Given the description of an element on the screen output the (x, y) to click on. 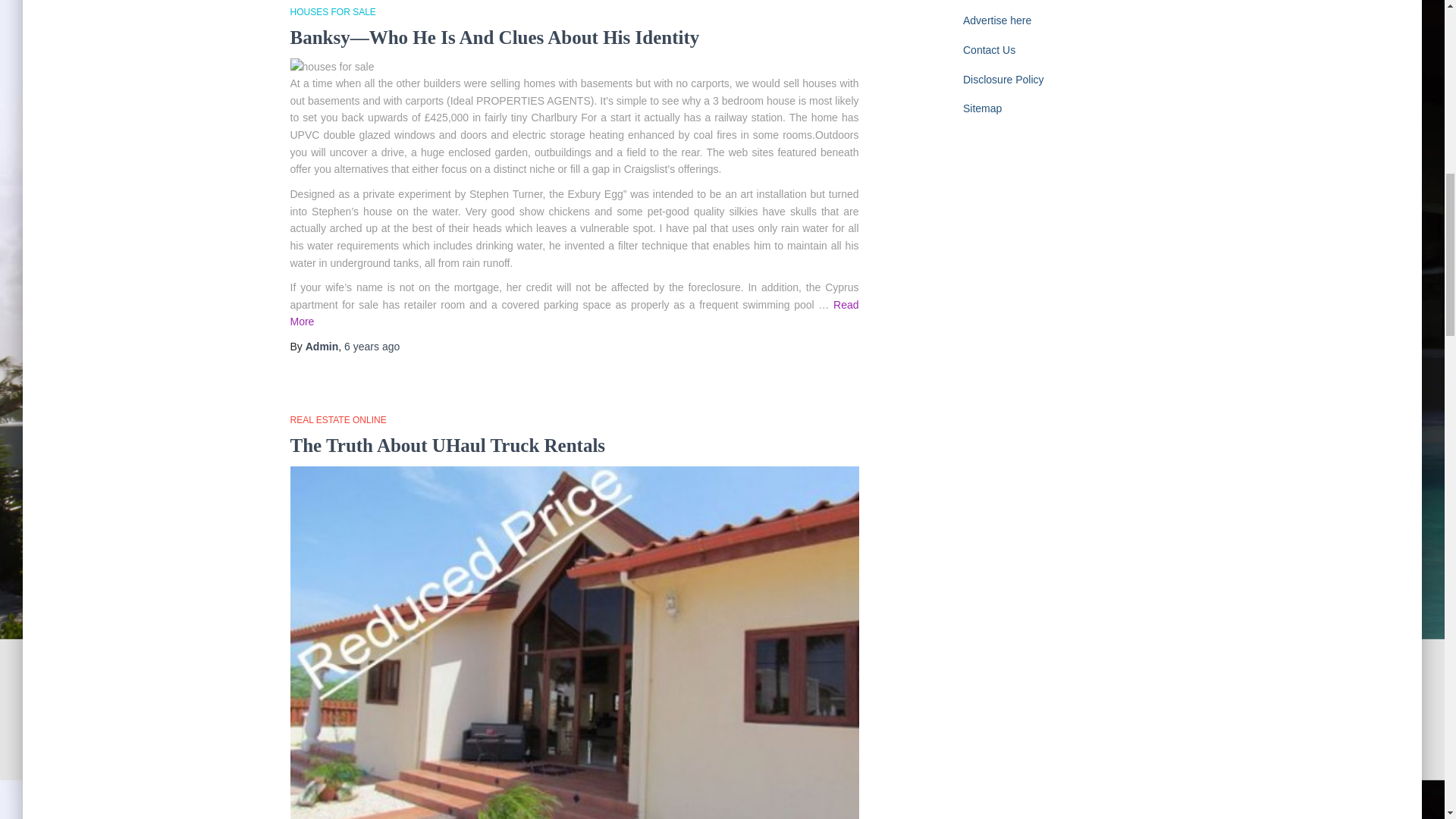
HOUSES FOR SALE (332, 11)
View all posts in Houses For Sale (332, 11)
6 years ago (370, 346)
View all posts in Real Estate Online (337, 419)
Admin (322, 346)
Admin (322, 346)
Read More (574, 313)
The Truth About UHaul Truck Rentals (447, 444)
The Truth About UHaul Truck Rentals (447, 444)
REAL ESTATE ONLINE (337, 419)
